Given the description of an element on the screen output the (x, y) to click on. 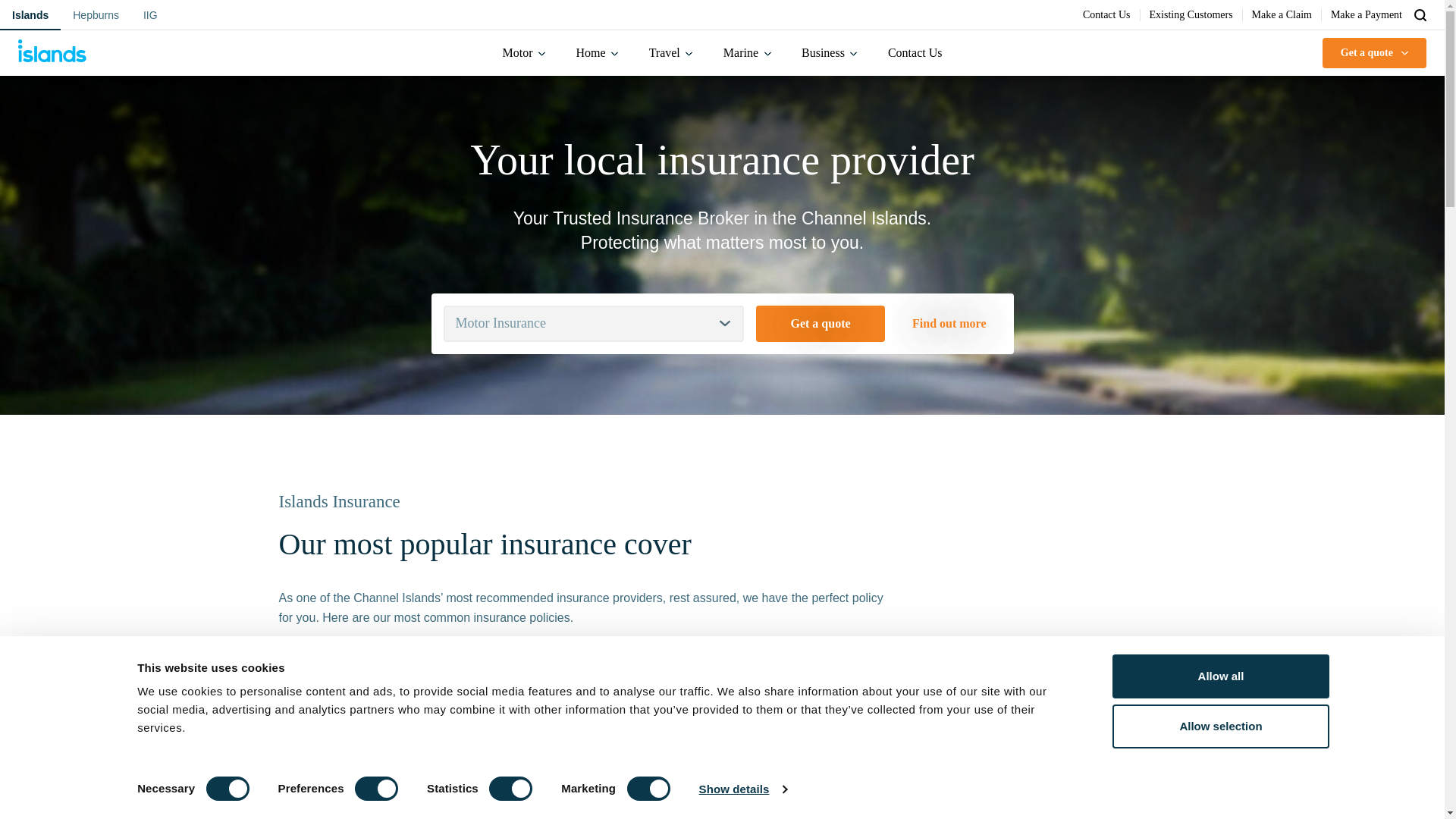
Show details (742, 789)
